Given the description of an element on the screen output the (x, y) to click on. 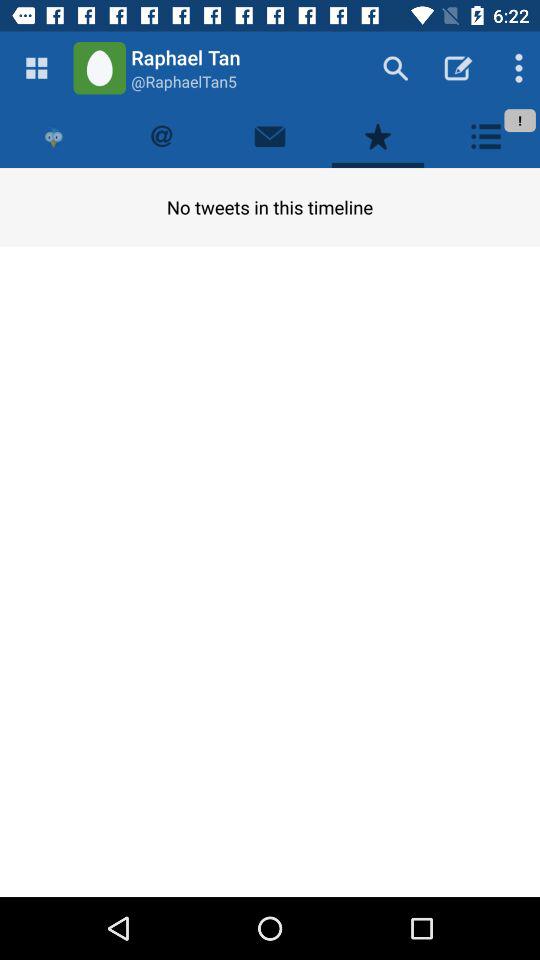
tap the item above the no tweets in item (162, 136)
